Given the description of an element on the screen output the (x, y) to click on. 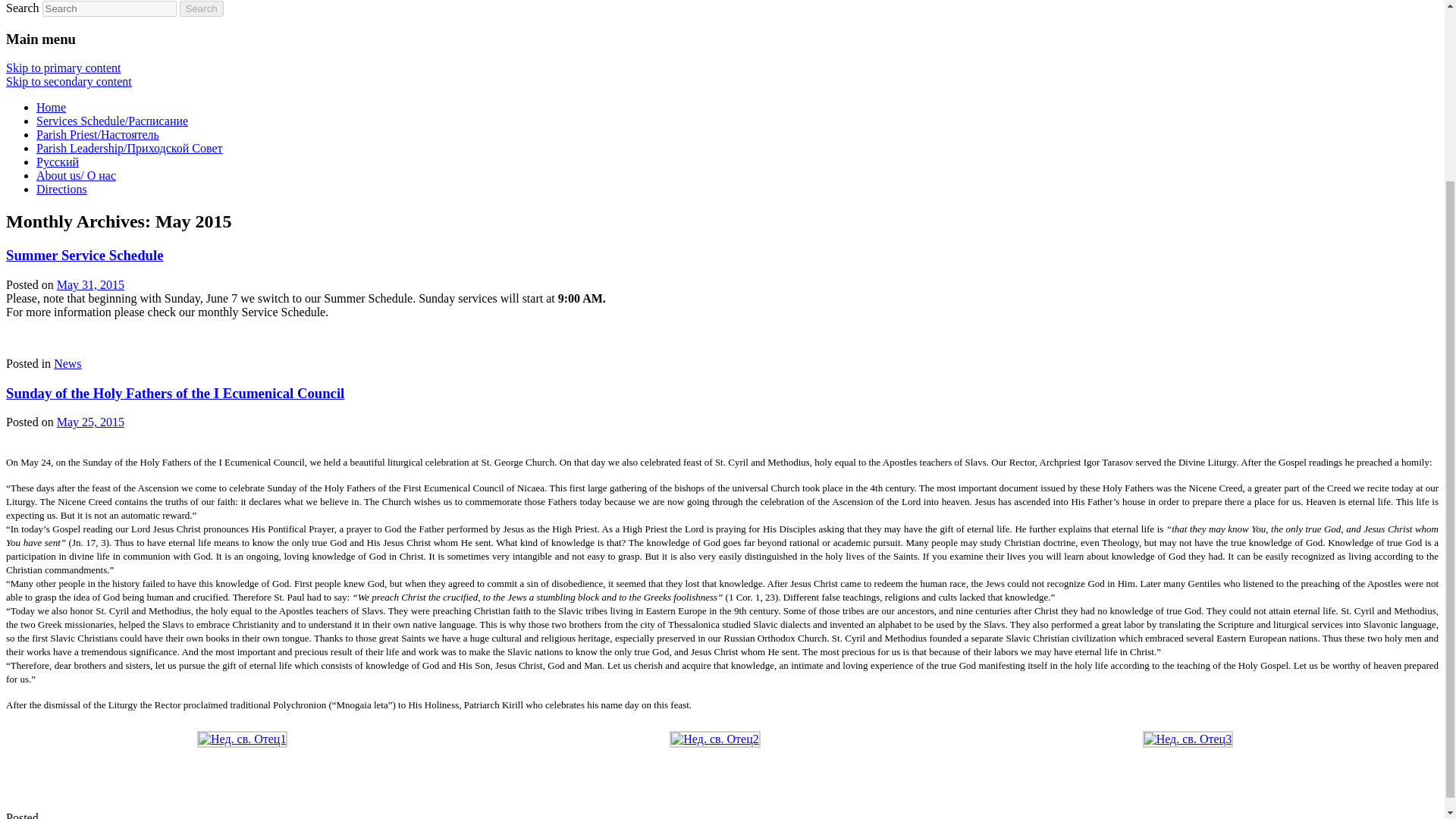
Meet the parish leaders (129, 147)
1:14 am (89, 284)
Permalink to Summer Service Schedule (84, 254)
Search (201, 8)
Skip to primary content (62, 67)
Skip to secondary content (68, 81)
May 25, 2015 (89, 421)
Home (50, 106)
Search (201, 8)
View monthly service schedule (111, 120)
Directions (61, 188)
News (67, 363)
Read about Parish Priest (97, 133)
Take a quick look at almost 90 years of parish history (76, 174)
How to find us (61, 188)
